Given the description of an element on the screen output the (x, y) to click on. 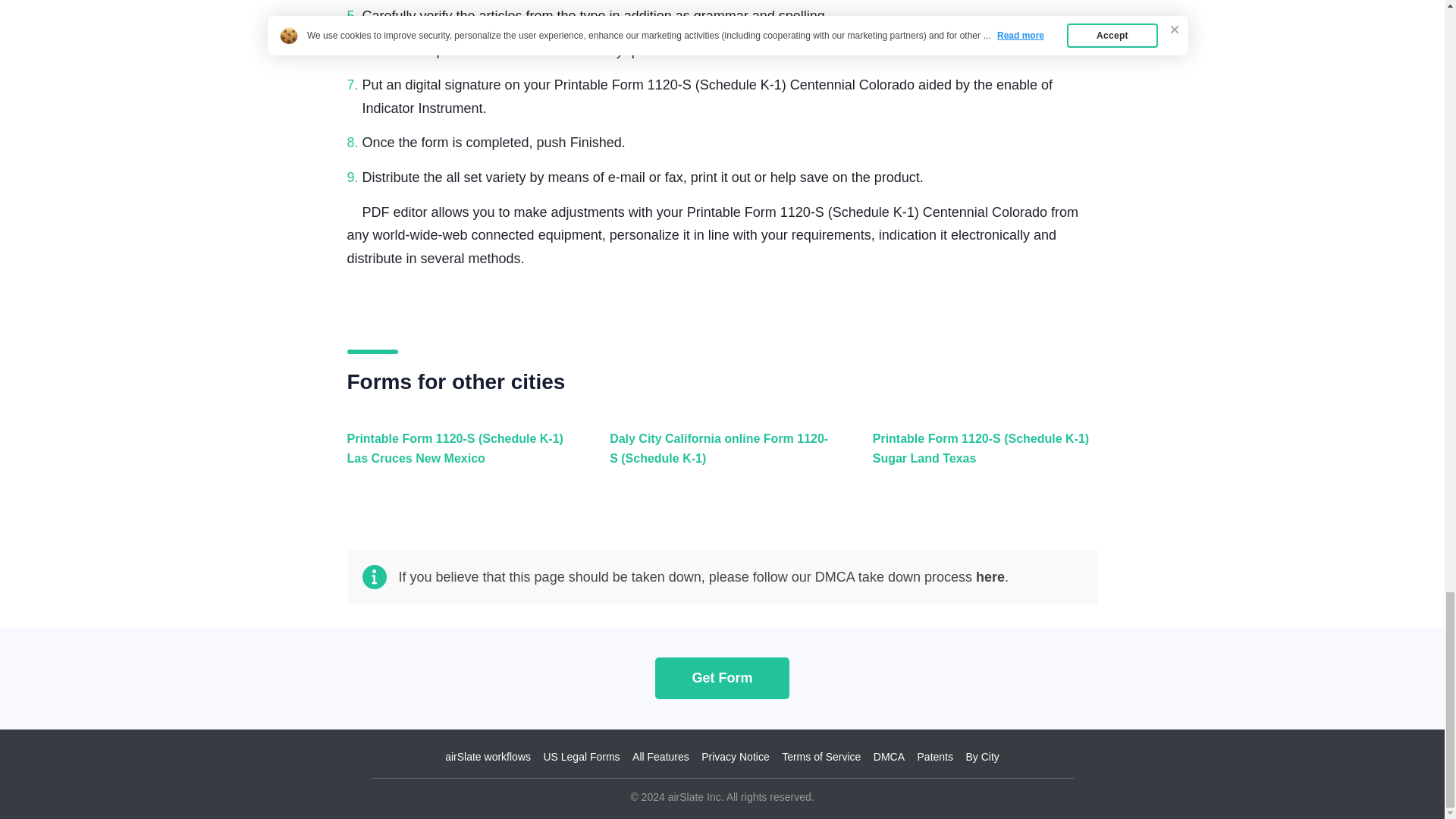
All Features (659, 756)
Terms of Service (820, 756)
here (989, 576)
DMCA (888, 756)
Get Form (722, 677)
By City (981, 756)
Patents (935, 756)
Privacy Notice (734, 756)
airSlate workflows (488, 756)
US Legal Forms (581, 756)
